Given the description of an element on the screen output the (x, y) to click on. 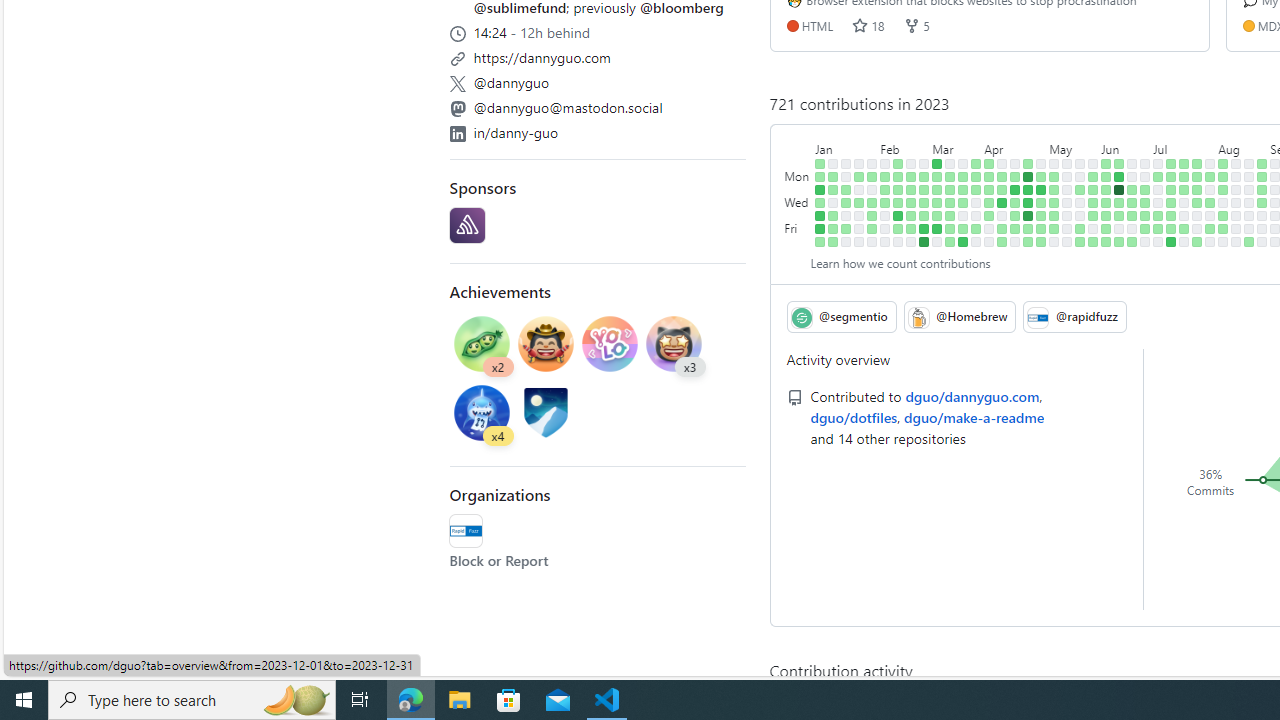
1 contribution on July 31st. (1210, 176)
No contributions on August 14th. (1236, 176)
Sunday (797, 163)
4 contributions on June 5th. (1106, 176)
No contributions on March 12th. (950, 163)
No contributions on April 1st. (976, 241)
No contributions on August 24th. (1249, 215)
No contributions on June 25th. (1145, 163)
10 contributions on April 12th. (1002, 202)
No contributions on July 27th. (1197, 215)
3 contributions on May 23rd. (1080, 189)
Achievement: Arctic Code Vault Contributor (545, 412)
February (905, 145)
No contributions on March 11th. (937, 241)
2 contributions on August 30th. (1262, 202)
